Given the description of an element on the screen output the (x, y) to click on. 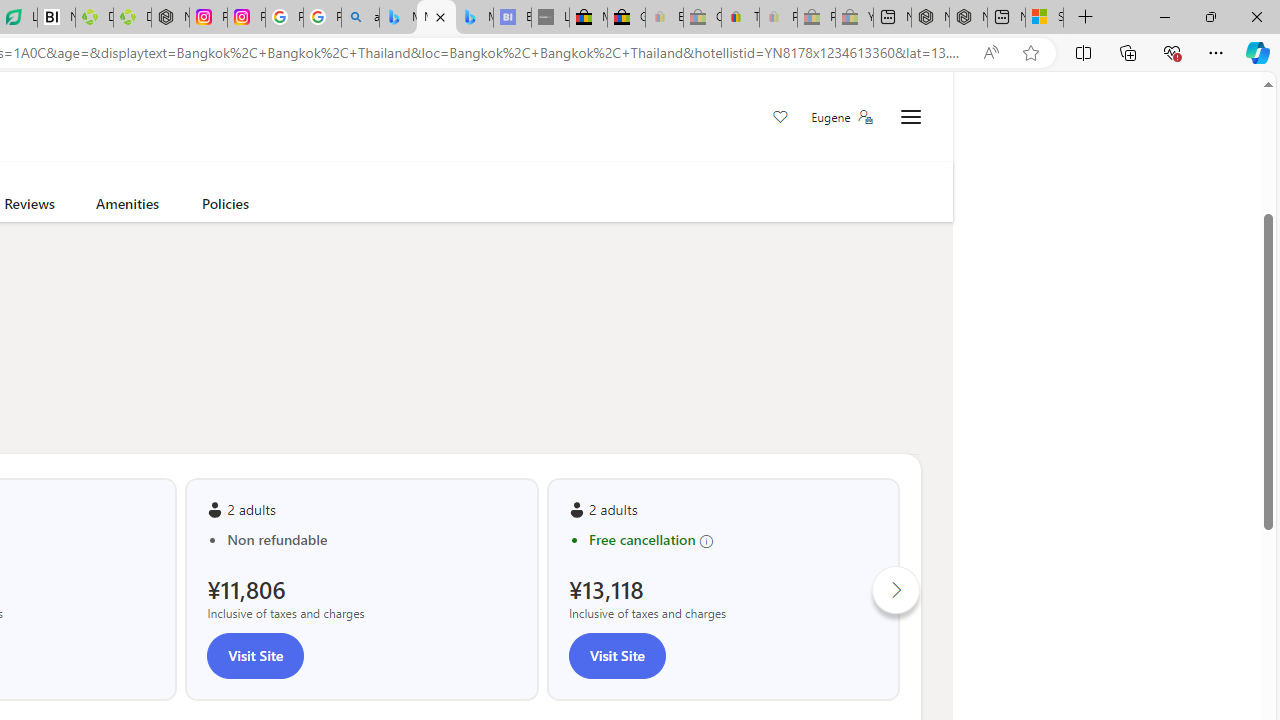
Nvidia va a poner a prueba la paciencia de los inversores (56, 17)
Policies (225, 207)
Amenities (126, 207)
Nordace - Nordace Edin Collection (170, 17)
+12 More Amenities (36, 161)
Microsoft Bing Travel - Shangri-La Hotel Bangkok (473, 17)
Payments Terms of Use | eBay.com - Sleeping (778, 17)
Non refundable (371, 539)
